Given the description of an element on the screen output the (x, y) to click on. 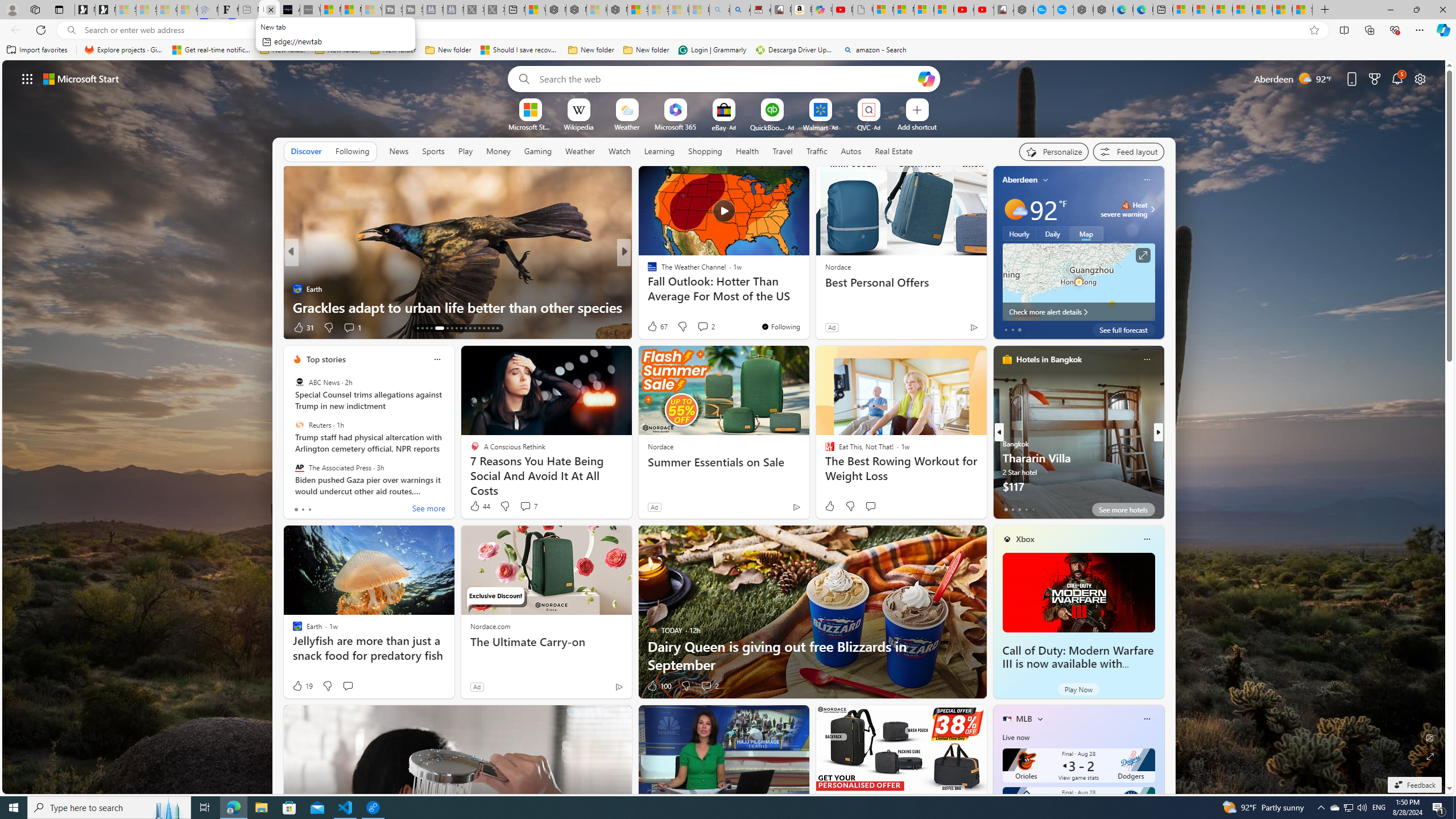
View comments 2 Comment (705, 685)
hotels-header-icon (1006, 358)
26 Like (652, 327)
Alternet (647, 270)
Should I save recovered Word documents? - Microsoft Support (519, 49)
Top 5 Dark Discoveries In The Amazon Rainforest (807, 307)
Settings and more (Alt+F) (1419, 29)
The Daily Beast (647, 270)
tab-4 (1032, 509)
Wikipedia (578, 126)
Workspaces (34, 9)
Travel (782, 151)
